Given the description of an element on the screen output the (x, y) to click on. 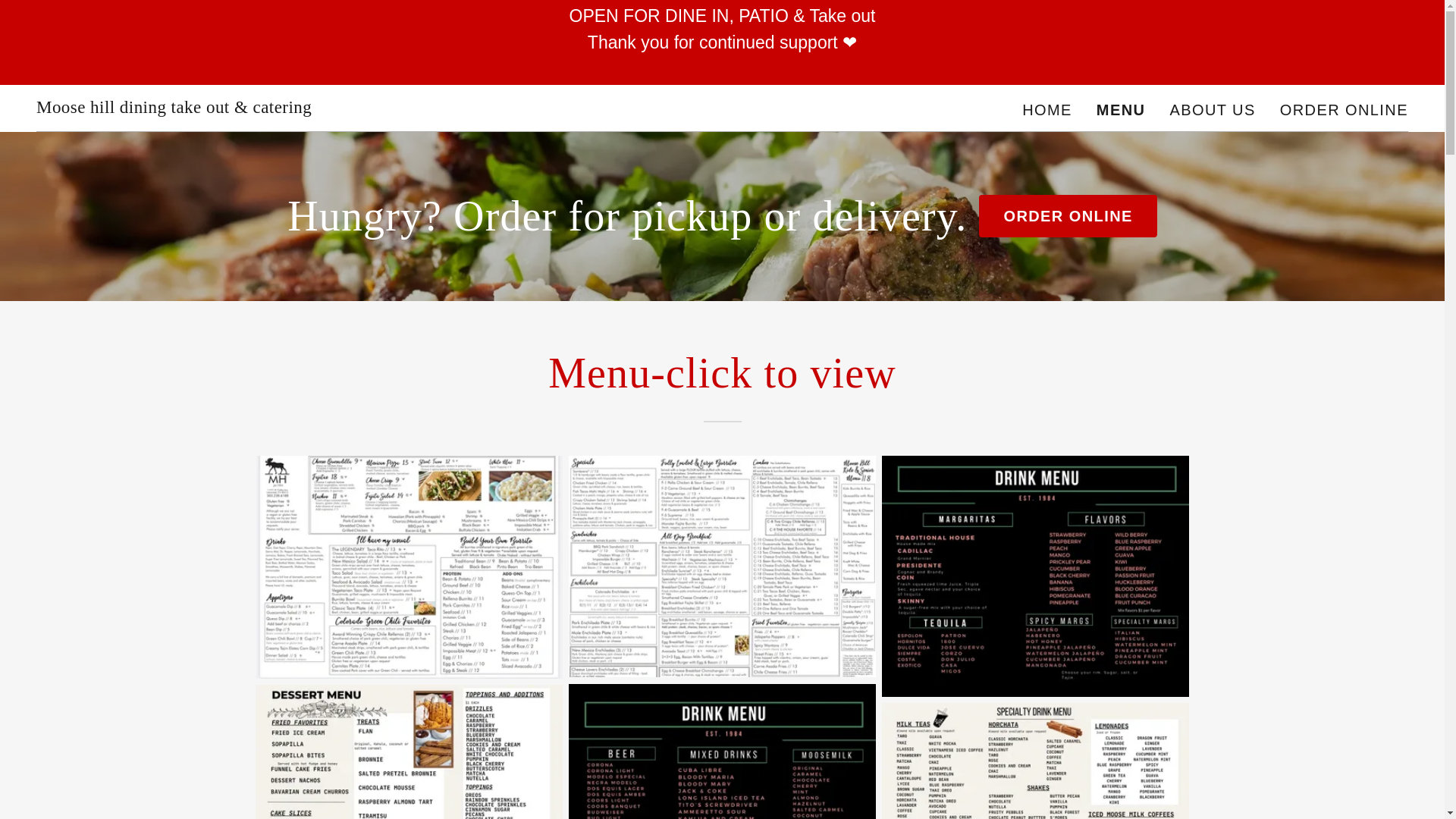
MENU (1120, 108)
HOME (1047, 108)
ORDER ONLINE (1067, 215)
ORDER ONLINE (1343, 108)
ABOUT US (1211, 108)
